Given the description of an element on the screen output the (x, y) to click on. 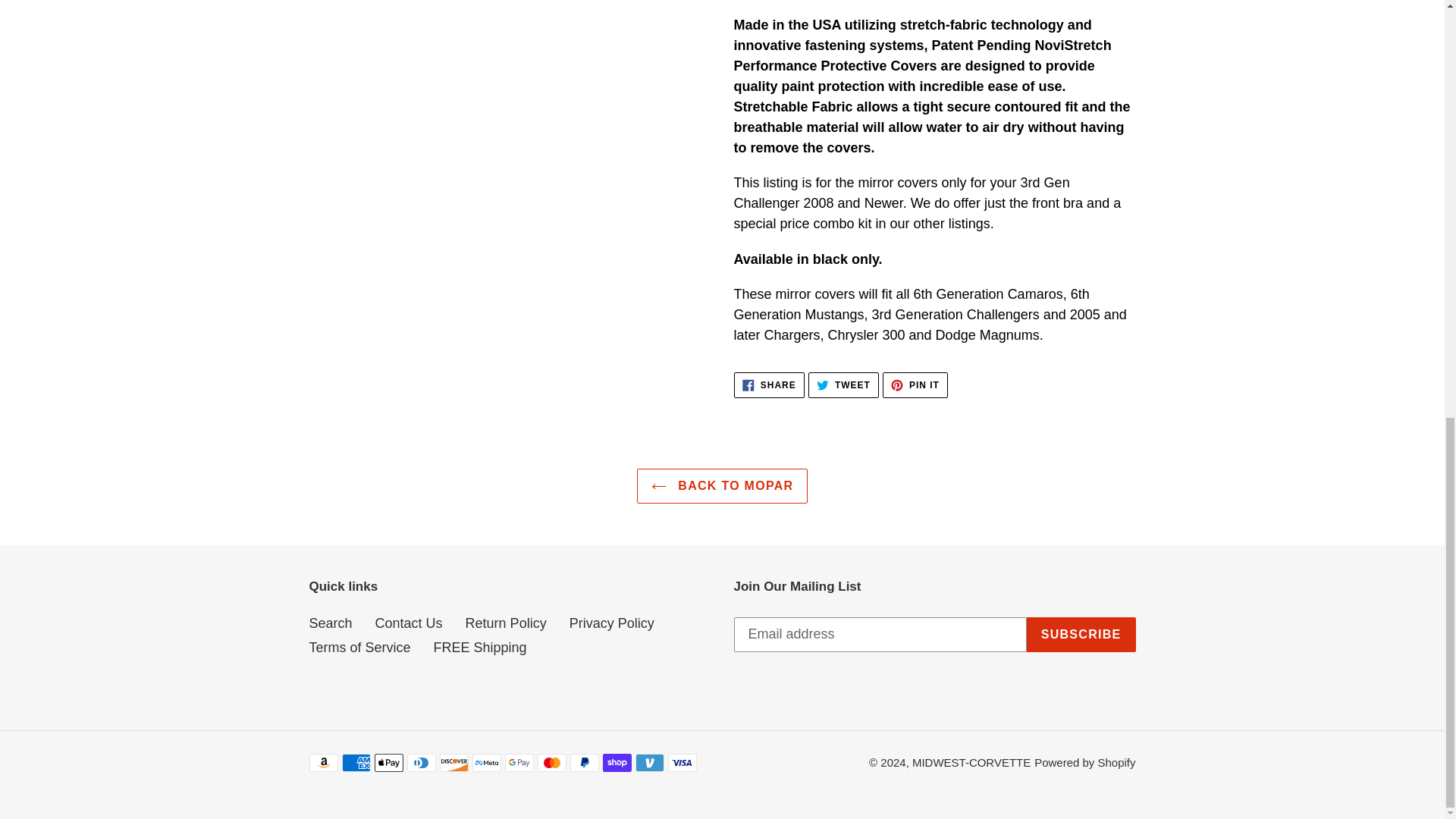
Contact Us (843, 385)
Privacy Policy (408, 622)
Search (611, 622)
Return Policy (769, 385)
Terms of Service (330, 622)
BACK TO MOPAR (914, 385)
